Given the description of an element on the screen output the (x, y) to click on. 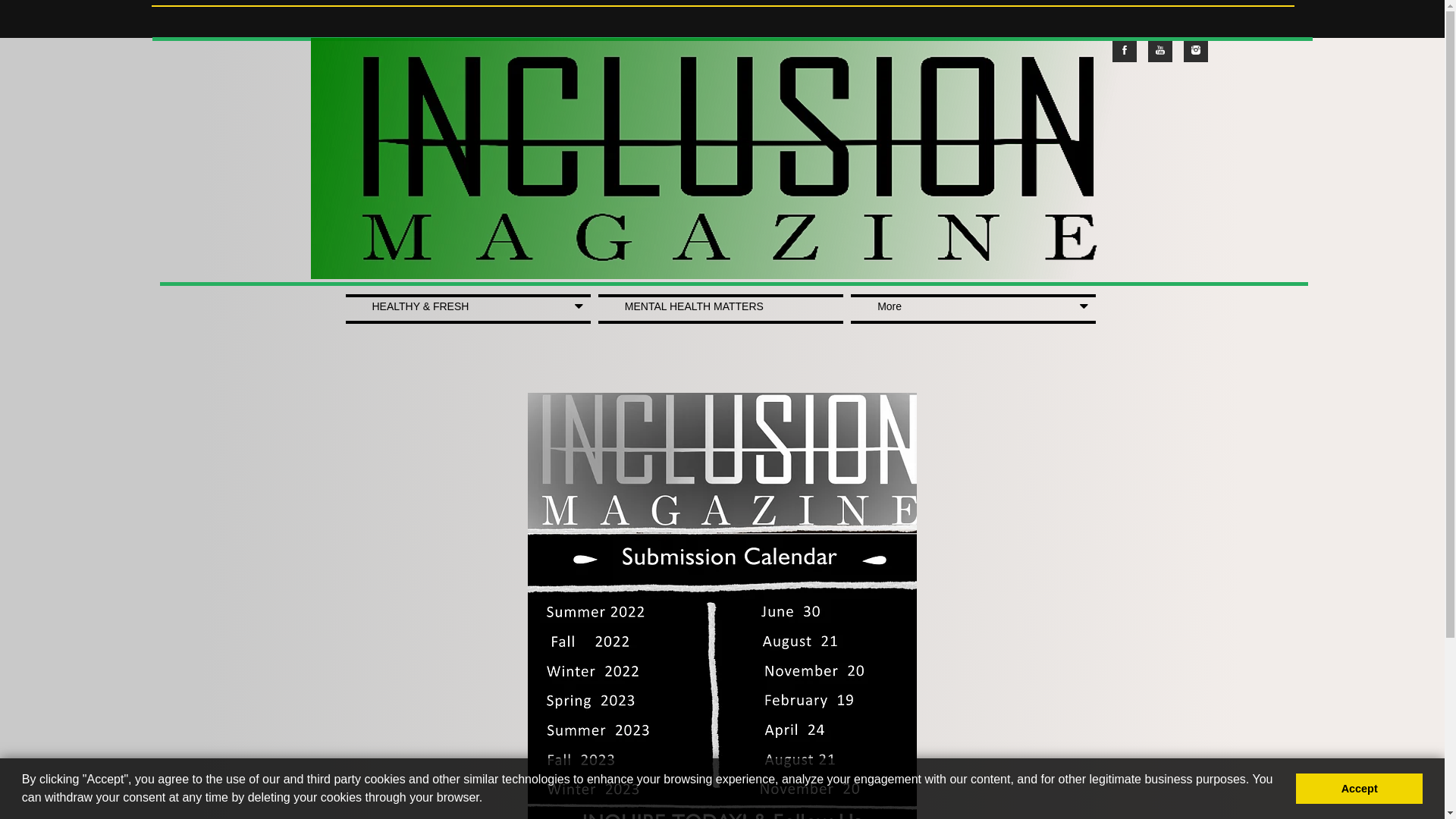
MENTAL HEALTH MATTERS Element type: text (720, 308)
More Element type: text (972, 308)
HEALTHY & FRESH Element type: text (467, 308)
Accept Element type: text (1358, 788)
